Given the description of an element on the screen output the (x, y) to click on. 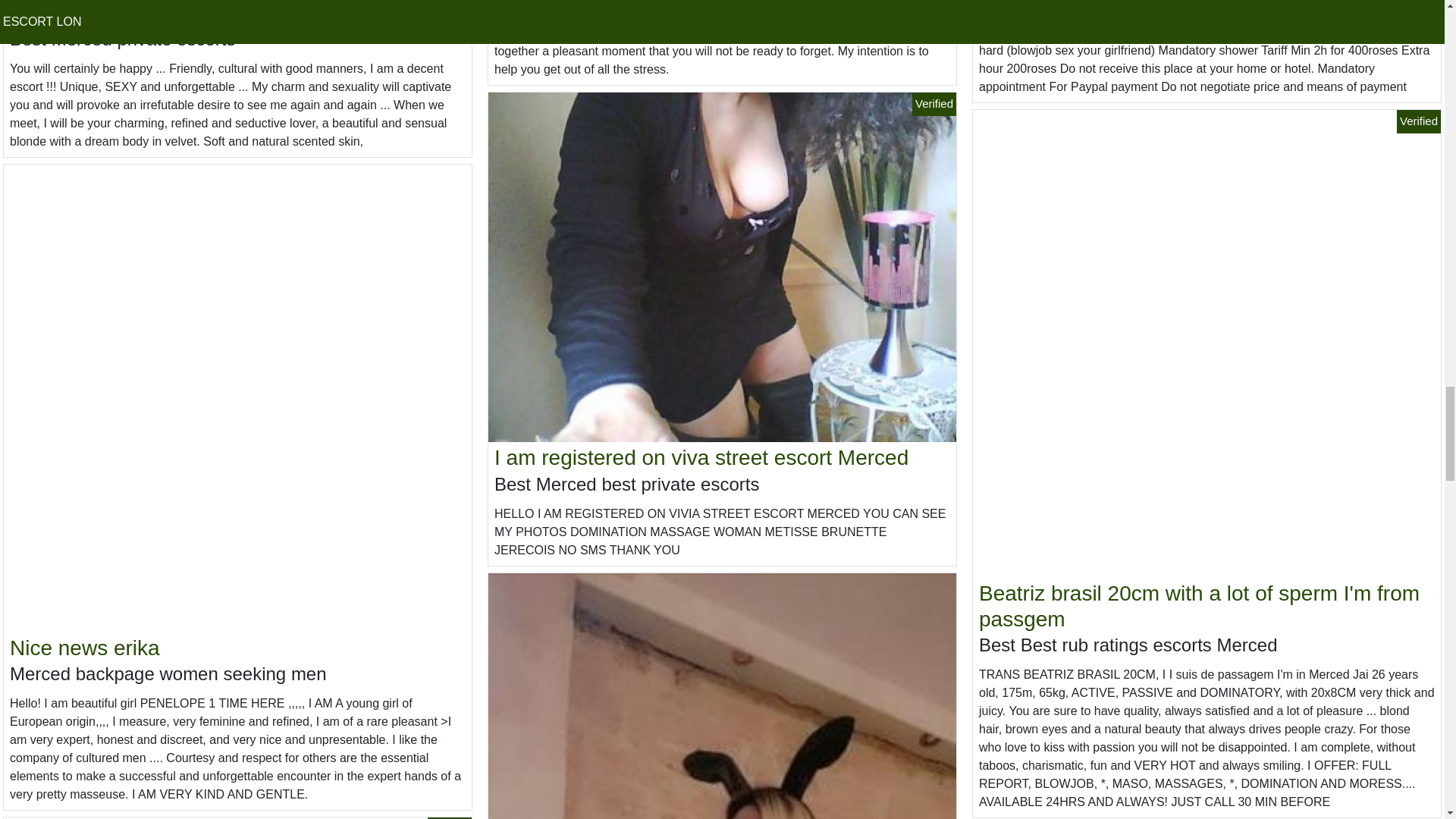
Nice news erika (85, 648)
Danny (40, 12)
I am registered on viva street escort Merced (701, 457)
